Given the description of an element on the screen output the (x, y) to click on. 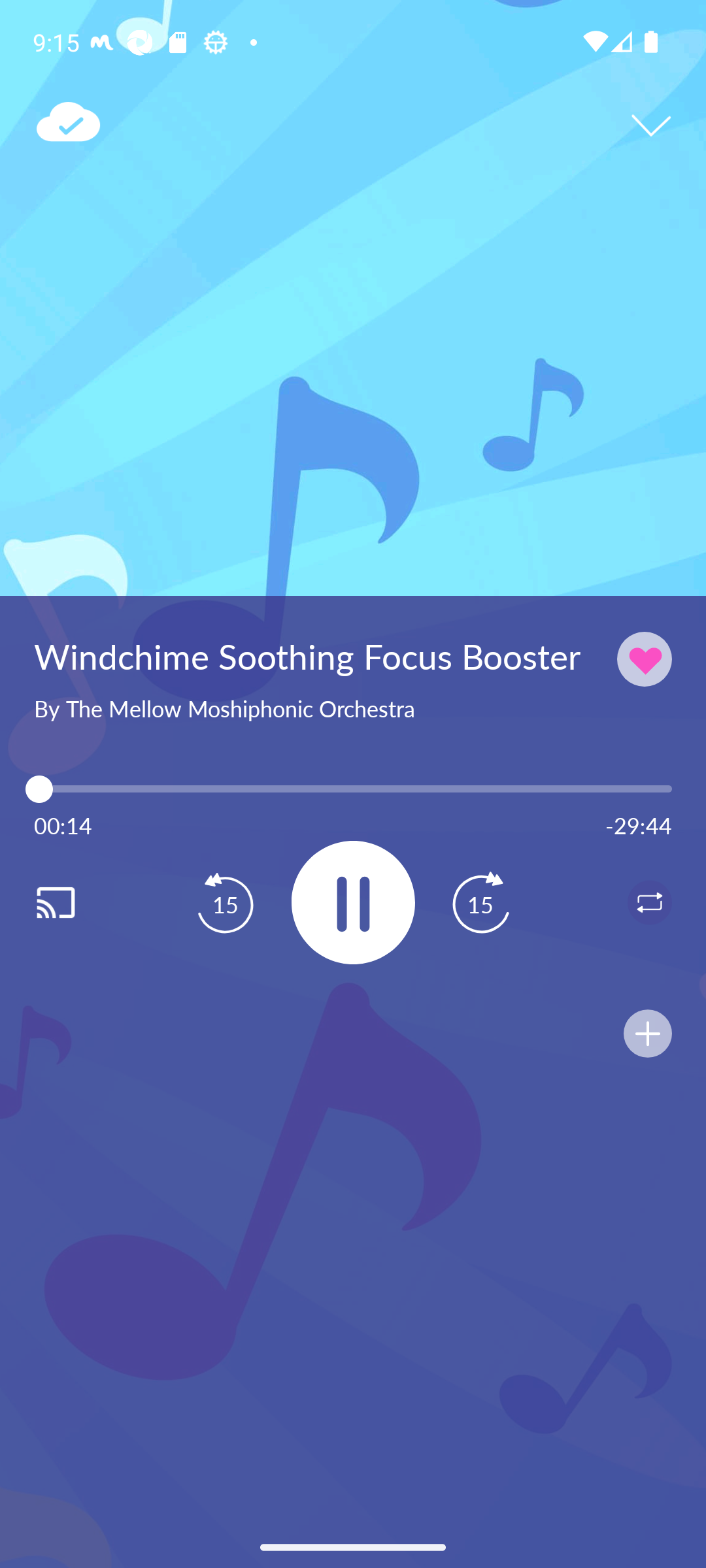
14.0 (352, 789)
Cast. Disconnected (76, 902)
